Given the description of an element on the screen output the (x, y) to click on. 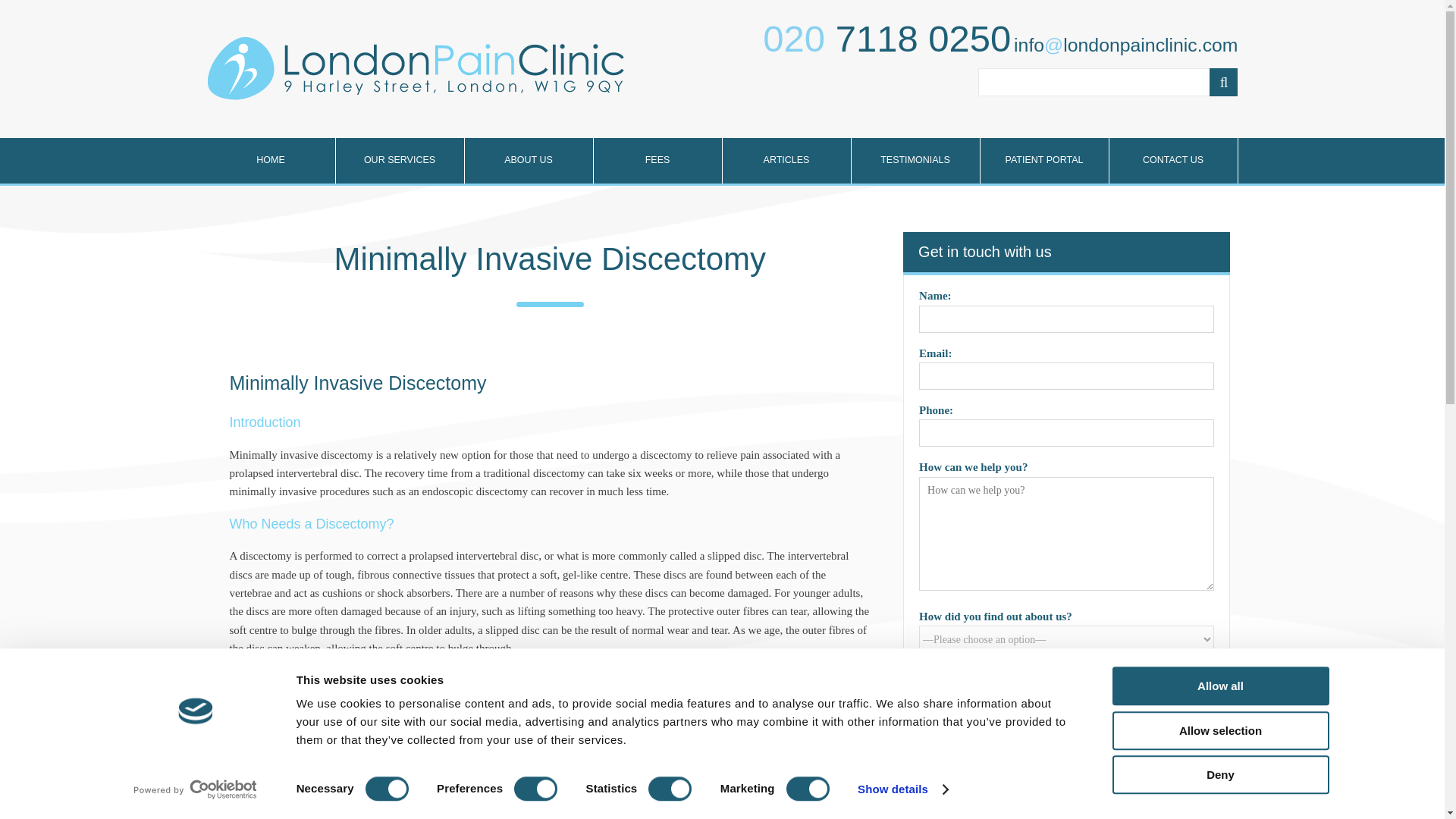
Allow all (1219, 685)
020 7118 0250 (886, 38)
Show details (902, 789)
1 (926, 740)
Allow selection (1219, 730)
Deny (1219, 774)
Send (954, 802)
